Given the description of an element on the screen output the (x, y) to click on. 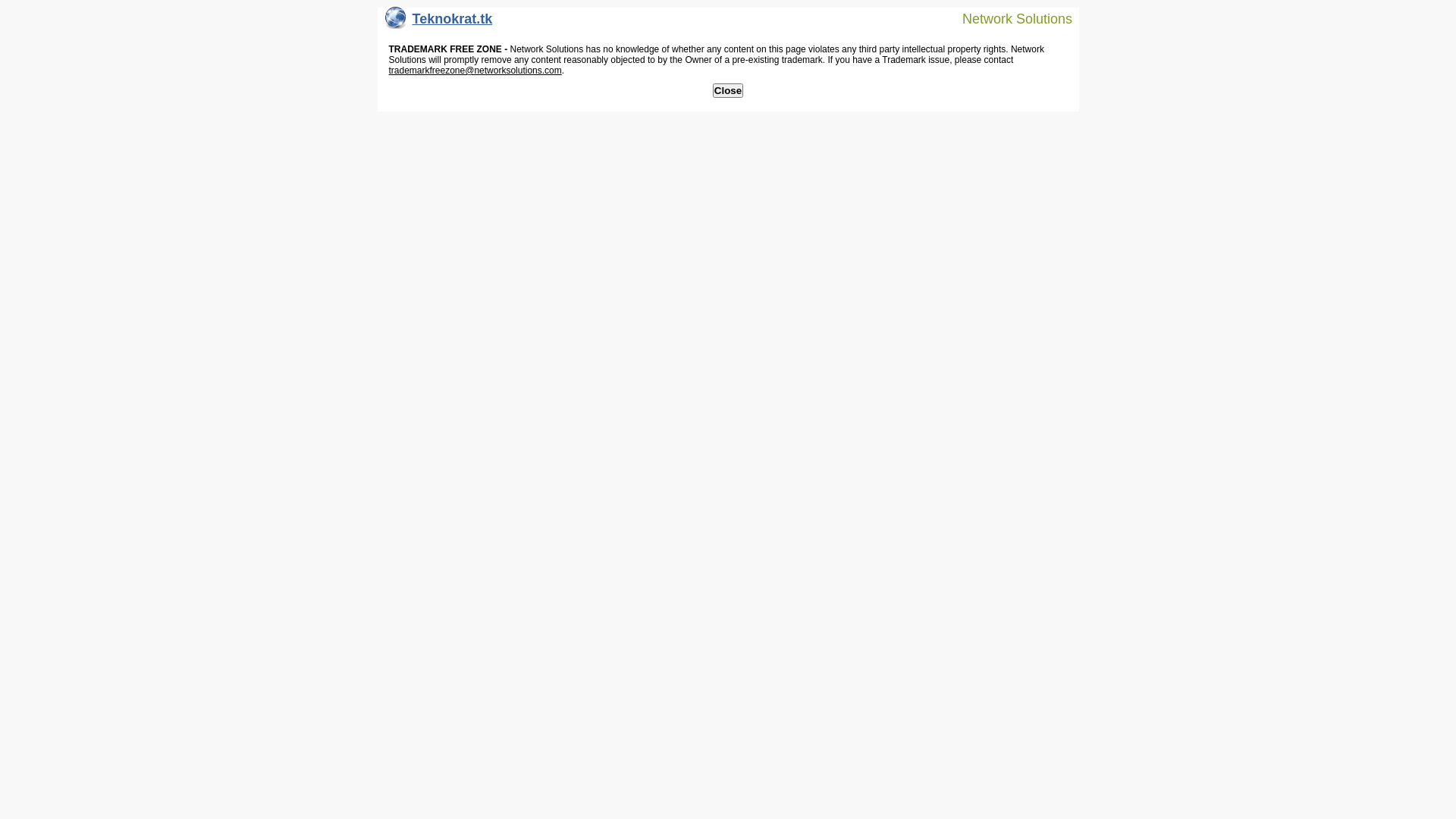
Close Element type: text (727, 90)
Network Solutions Element type: text (1007, 17)
Teknokrat.tk Element type: text (438, 21)
trademarkfreezone@networksolutions.com Element type: text (474, 70)
